Given the description of an element on the screen output the (x, y) to click on. 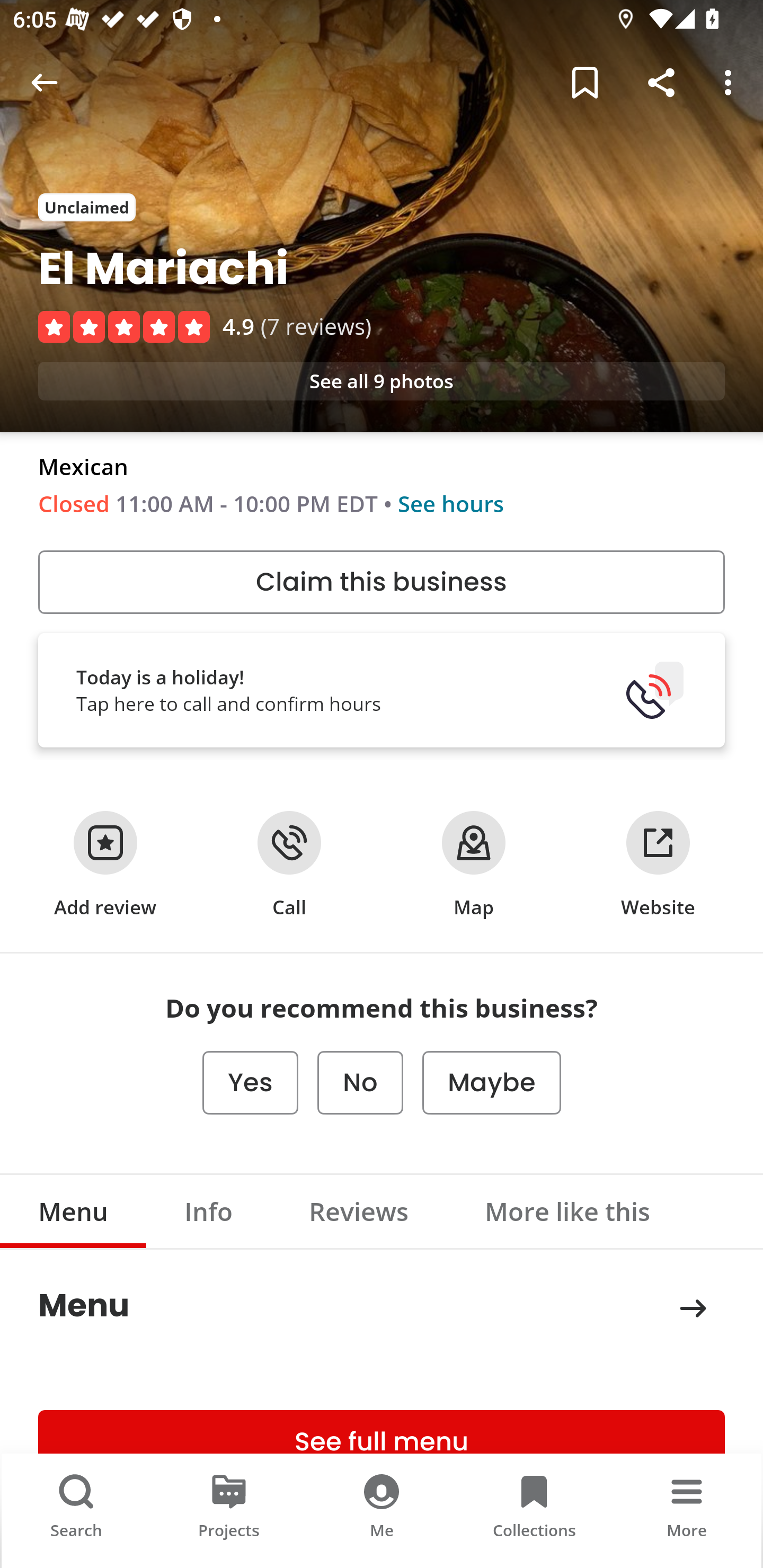
Info (208, 1210)
